Given the description of an element on the screen output the (x, y) to click on. 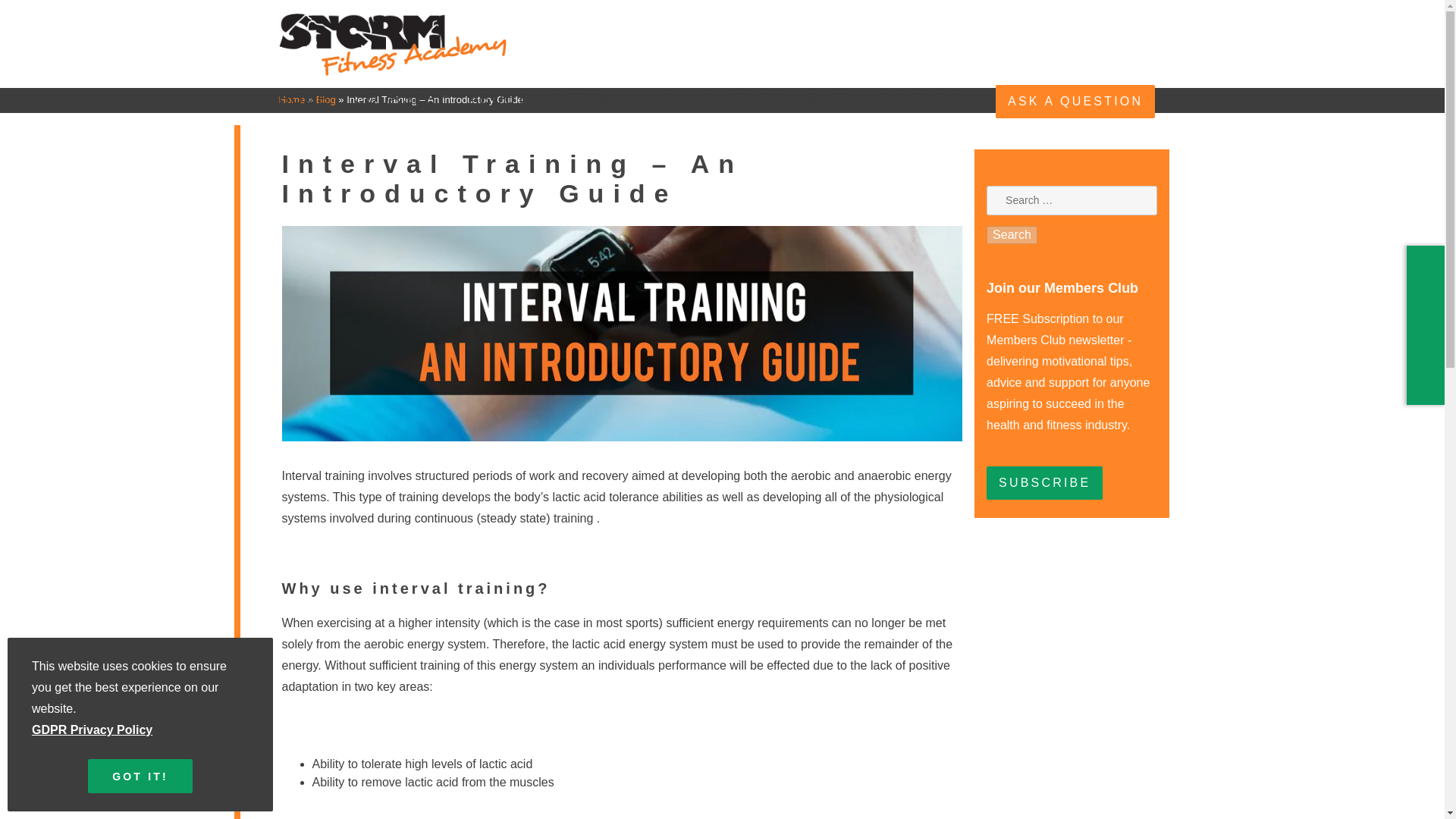
CONTACT (919, 99)
GOT IT! (139, 776)
Search (1011, 235)
BLOG (831, 99)
COURSES (394, 99)
PODCAST (742, 99)
GDPR Privacy Policy (92, 729)
ABOUT (497, 99)
Storm Fitness Academy Logo (392, 71)
TESTIMONIALS (614, 99)
